Given the description of an element on the screen output the (x, y) to click on. 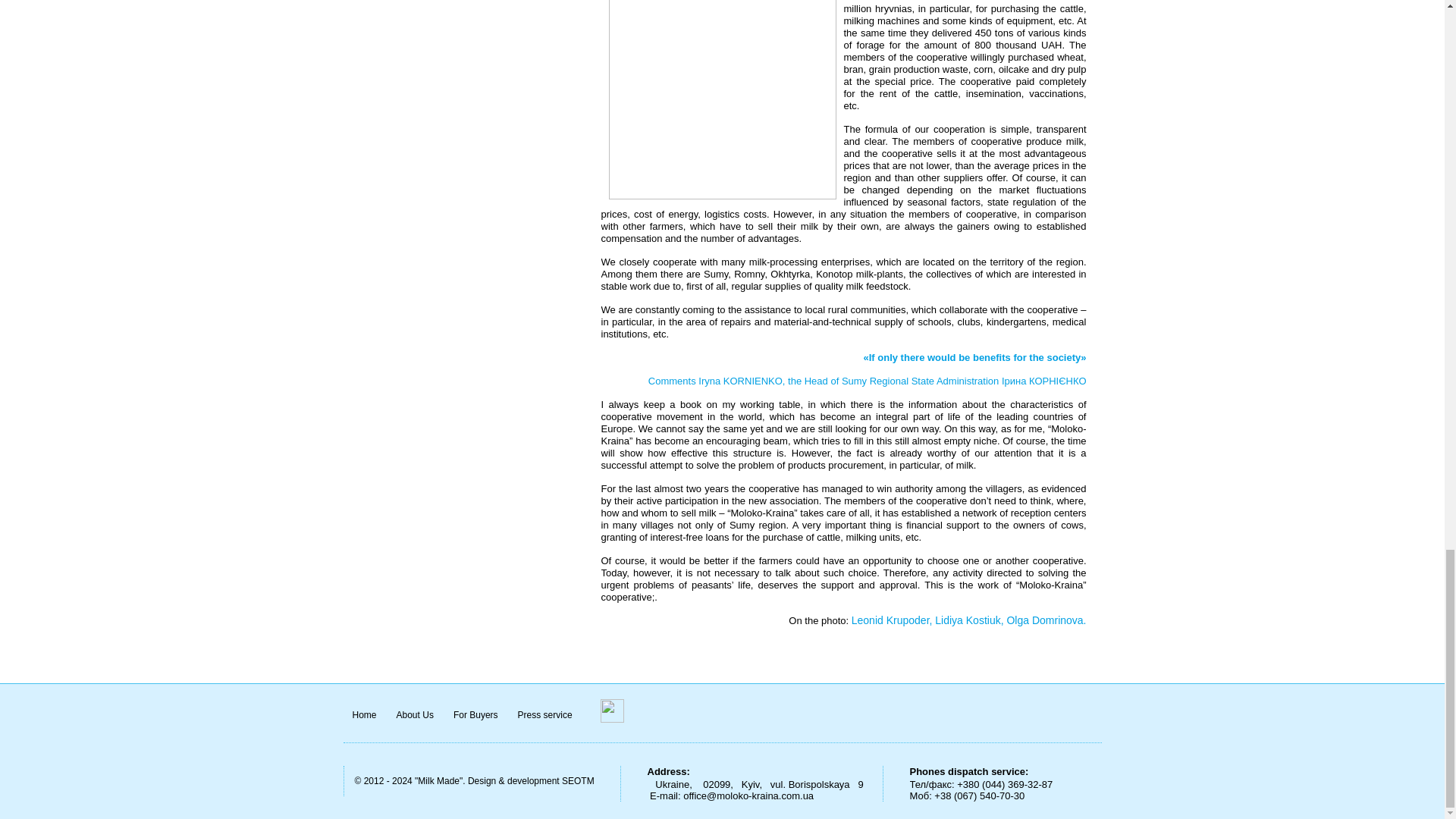
SEOTM (578, 780)
About Us (414, 714)
For Buyers (475, 714)
Home (363, 714)
Press service (544, 714)
LiveInternet (611, 710)
